Given the description of an element on the screen output the (x, y) to click on. 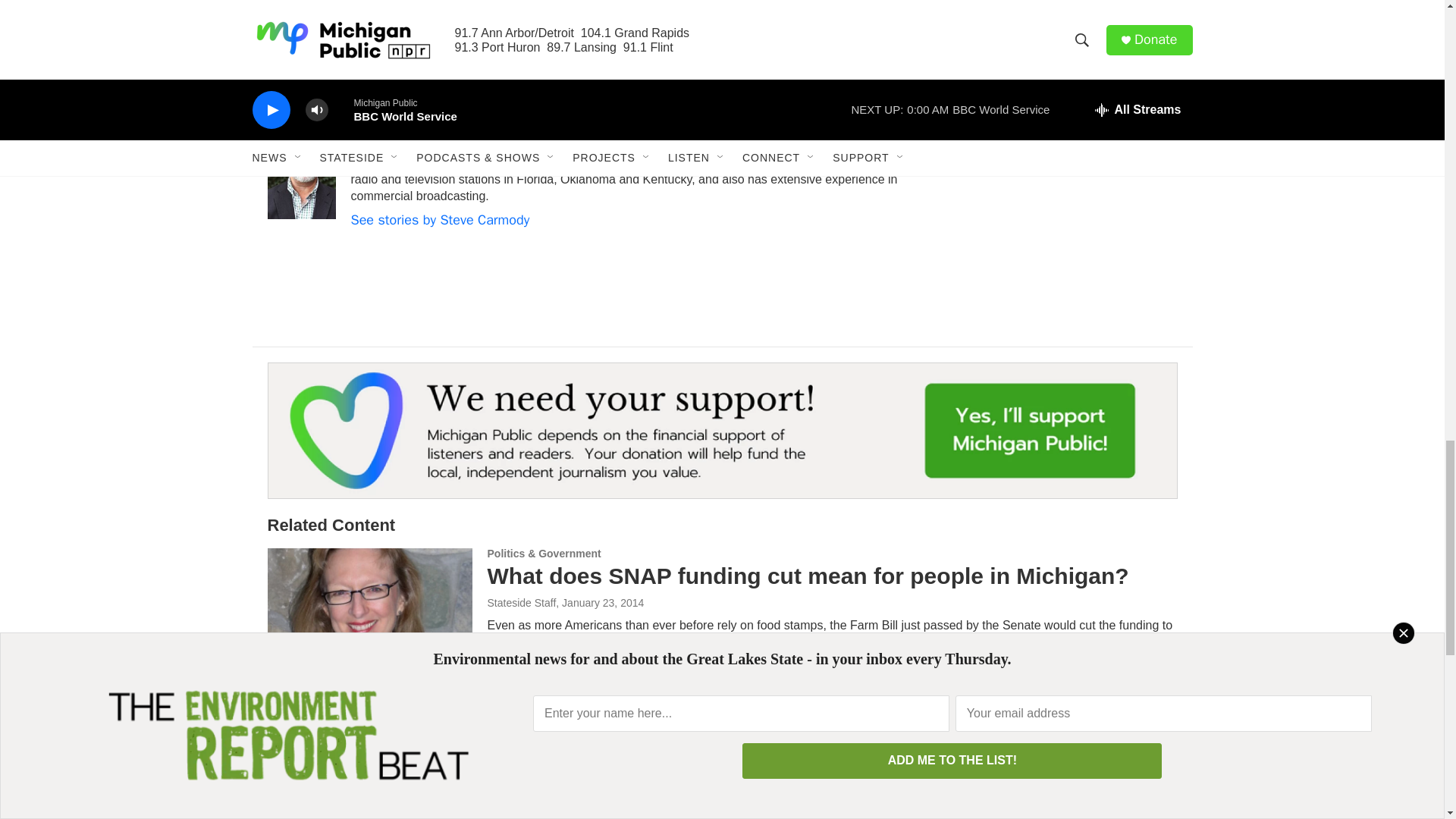
3rd party ad content (1062, 33)
3rd party ad content (1062, 190)
